Given the description of an element on the screen output the (x, y) to click on. 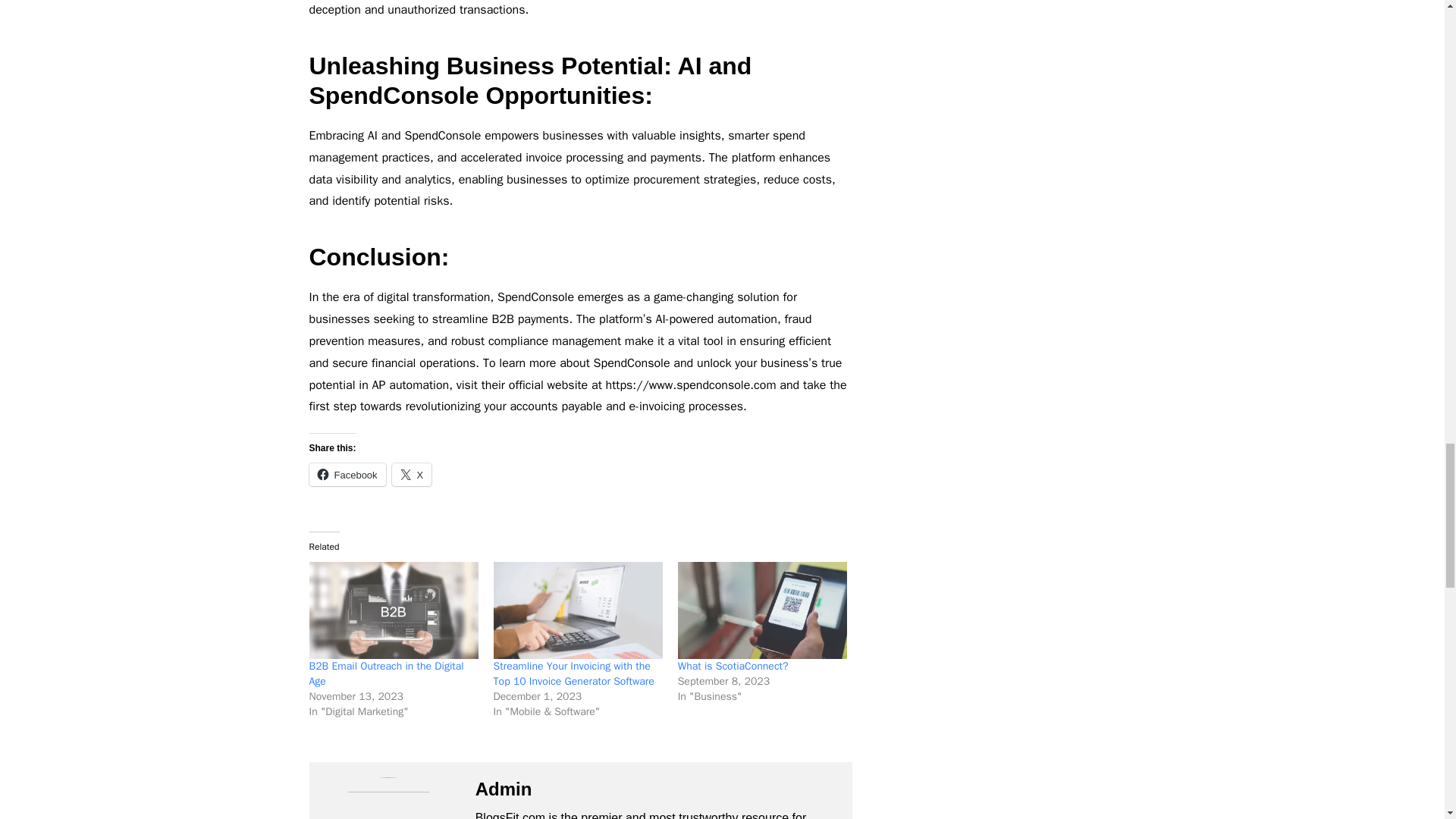
Facebook (346, 474)
Click to share on Facebook (346, 474)
B2B Email Outreach in the Digital Age (386, 673)
X (411, 474)
What is ScotiaConnect? (733, 666)
